Given the description of an element on the screen output the (x, y) to click on. 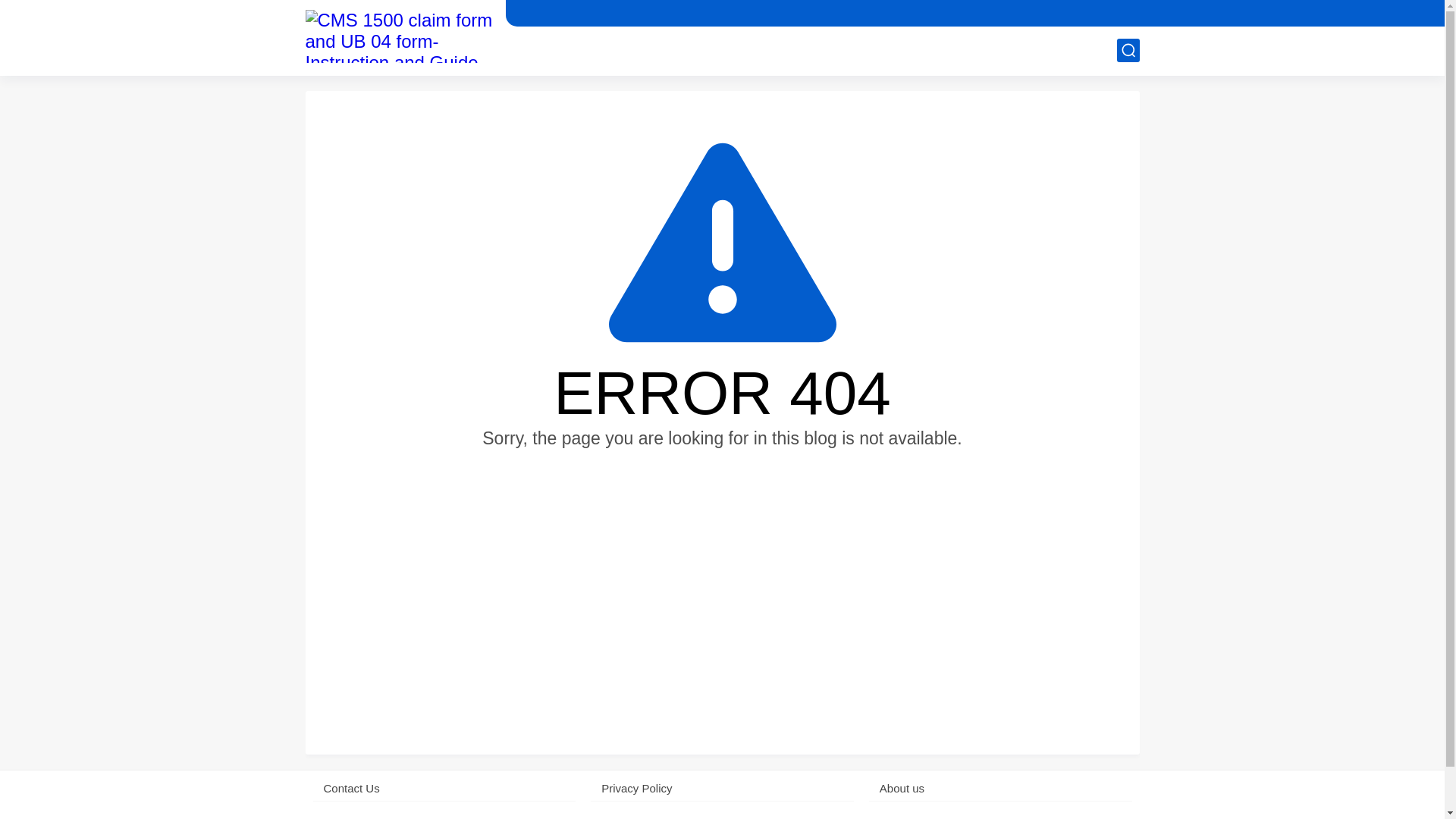
Privacy Policy (722, 788)
CMS 1500 claim form and UB 04 form- Instruction and Guide (399, 36)
About us (1000, 788)
Contact Us (444, 788)
